Given the description of an element on the screen output the (x, y) to click on. 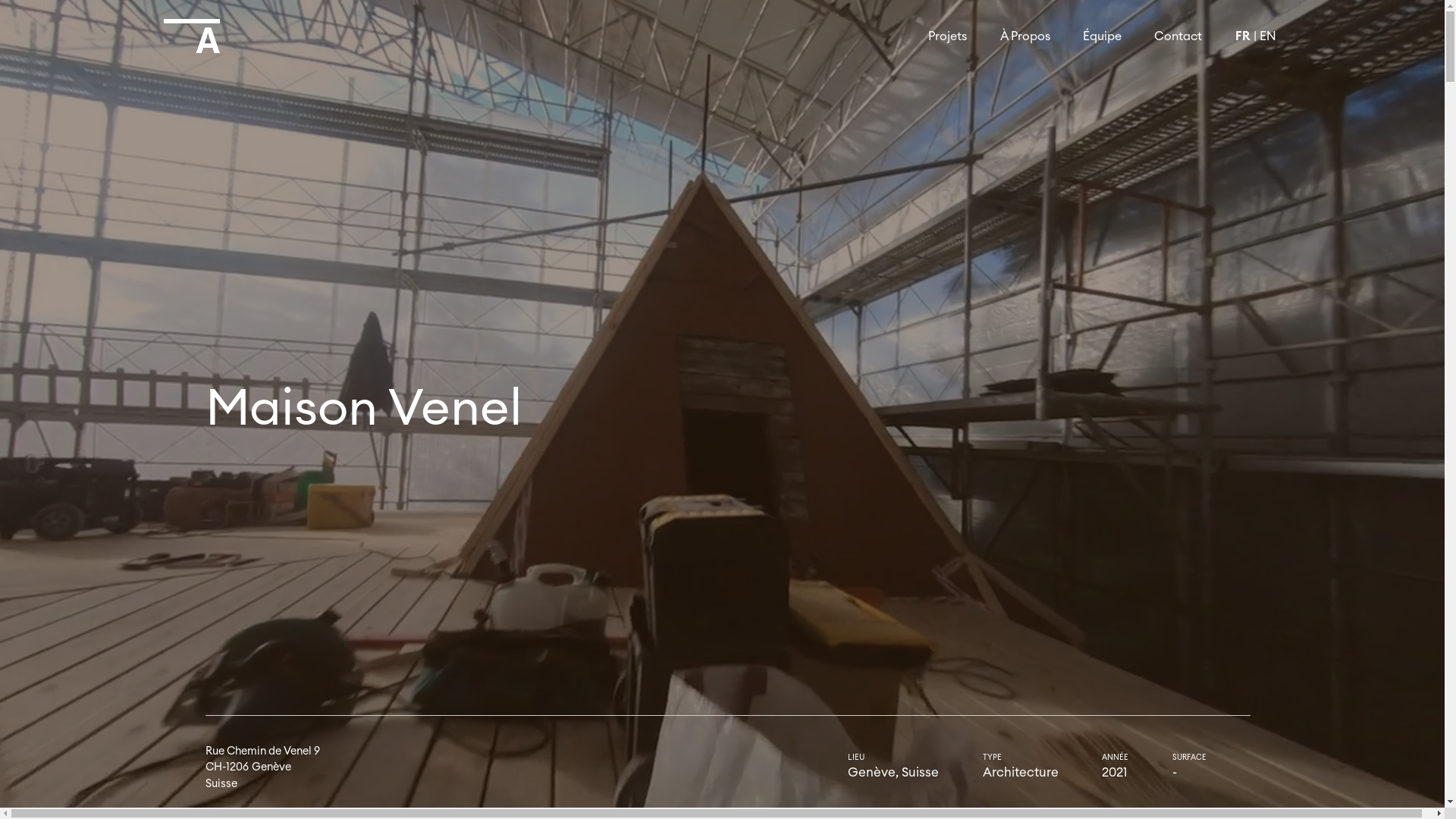
Contact Element type: text (1178, 36)
Projets Element type: text (947, 36)
FR | EN Element type: text (1255, 36)
